Given the description of an element on the screen output the (x, y) to click on. 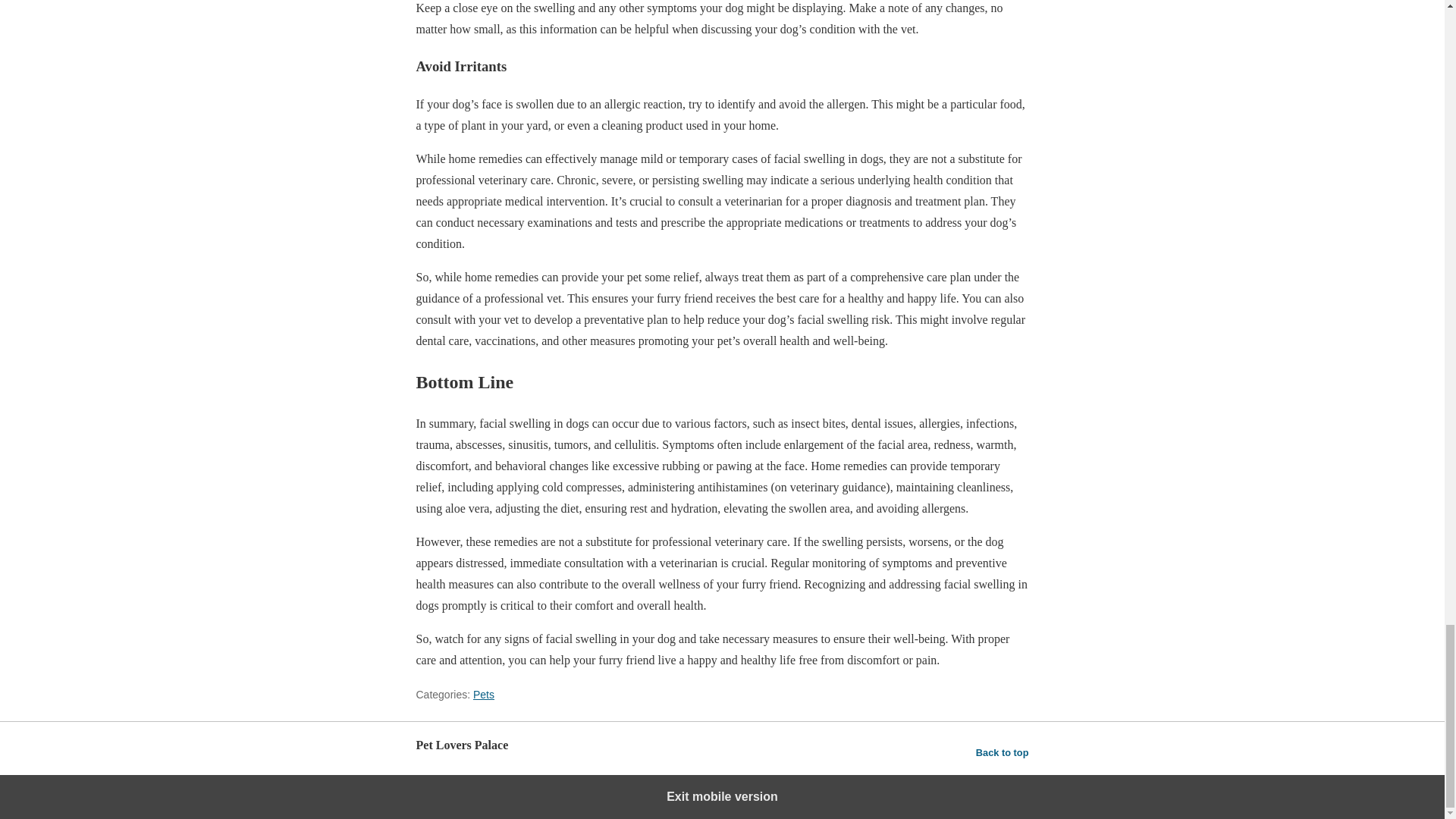
Back to top (1002, 752)
Pets (484, 694)
